Given the description of an element on the screen output the (x, y) to click on. 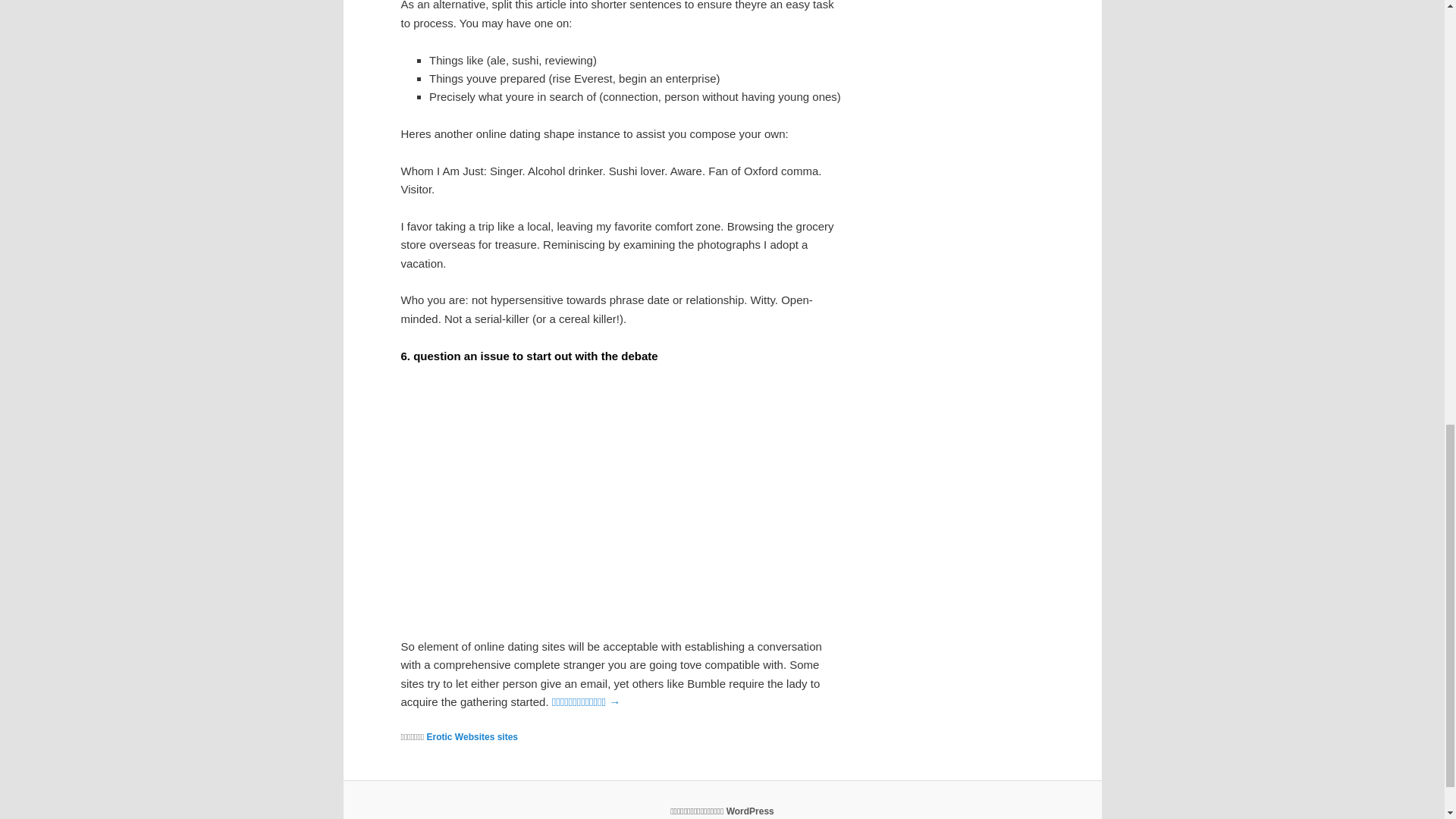
Erotic Websites sites (472, 737)
